Given the description of an element on the screen output the (x, y) to click on. 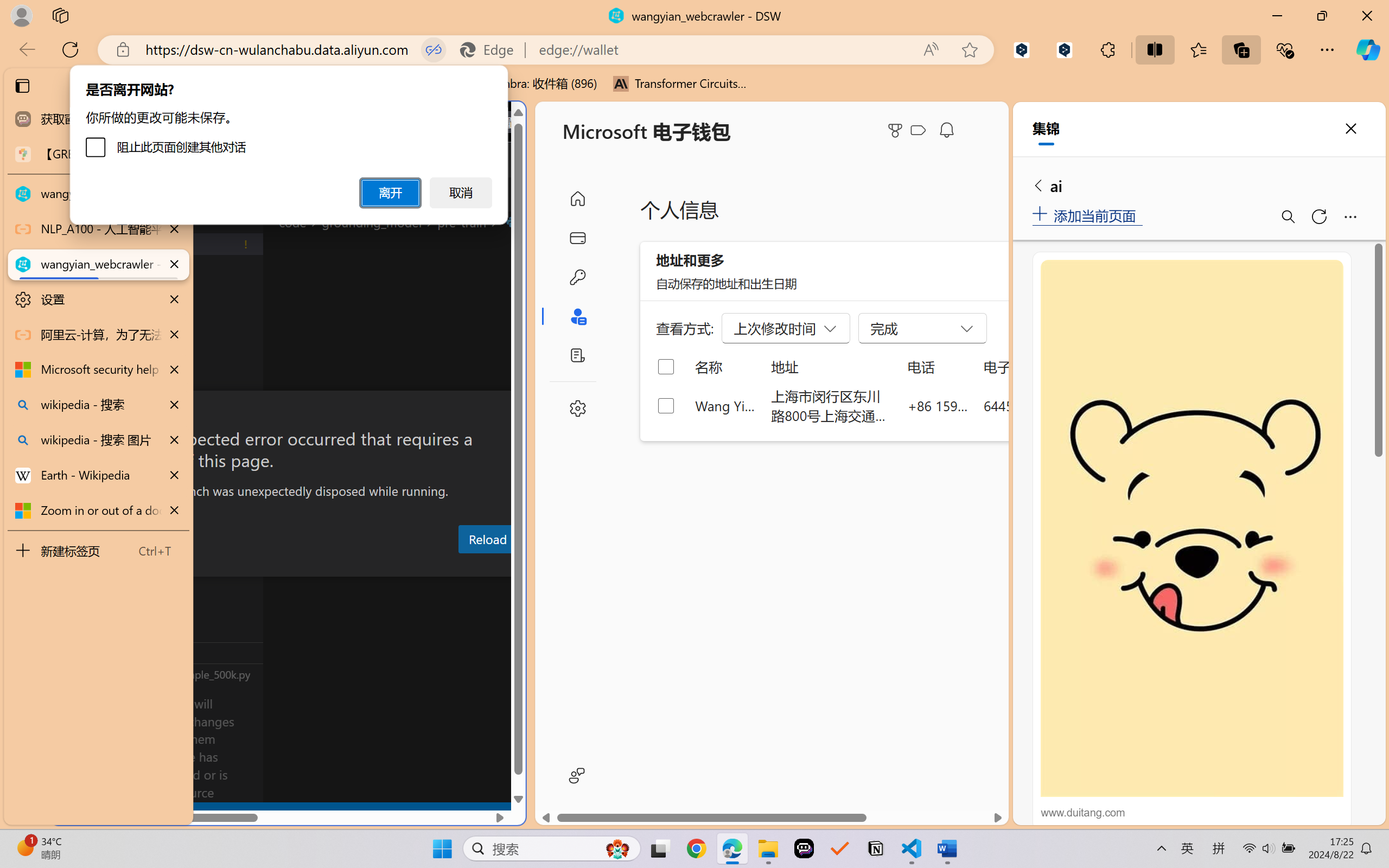
Class: ___1lmltc5 f1agt3bx f12qytpq (917, 130)
Microsoft security help and learning (97, 369)
Microsoft Cashback (920, 130)
Copilot (Ctrl+Shift+.) (1368, 49)
+86 159 0032 4640 (938, 405)
Problems (Ctrl+Shift+M) (308, 565)
